Given the description of an element on the screen output the (x, y) to click on. 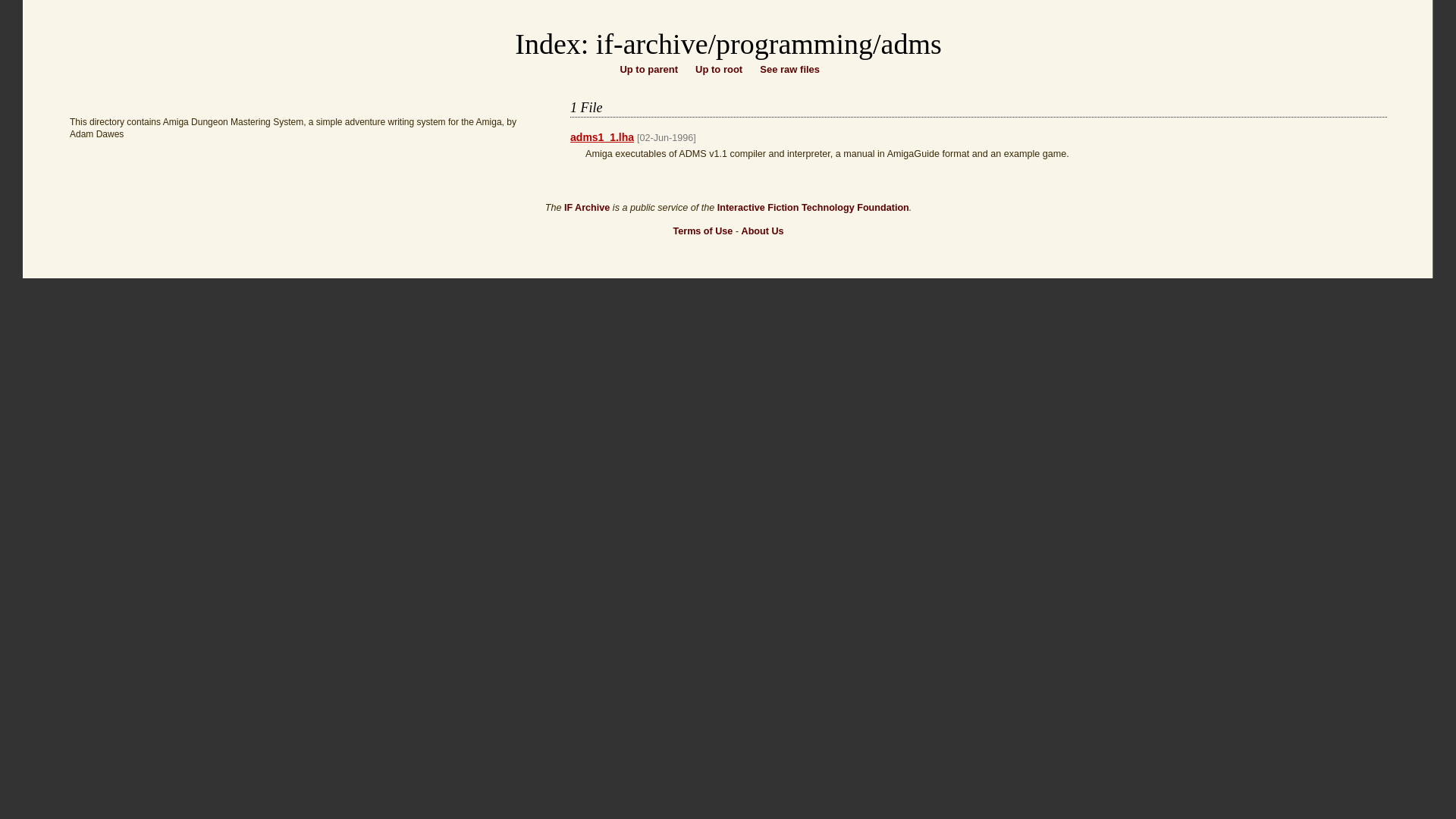
IF Archive (587, 207)
Up to root (718, 69)
About Us (762, 231)
Terms of Use (702, 231)
Interactive Fiction Technology Foundation (812, 207)
See raw files (789, 69)
if-archive (651, 43)
Up to parent (649, 69)
